Given the description of an element on the screen output the (x, y) to click on. 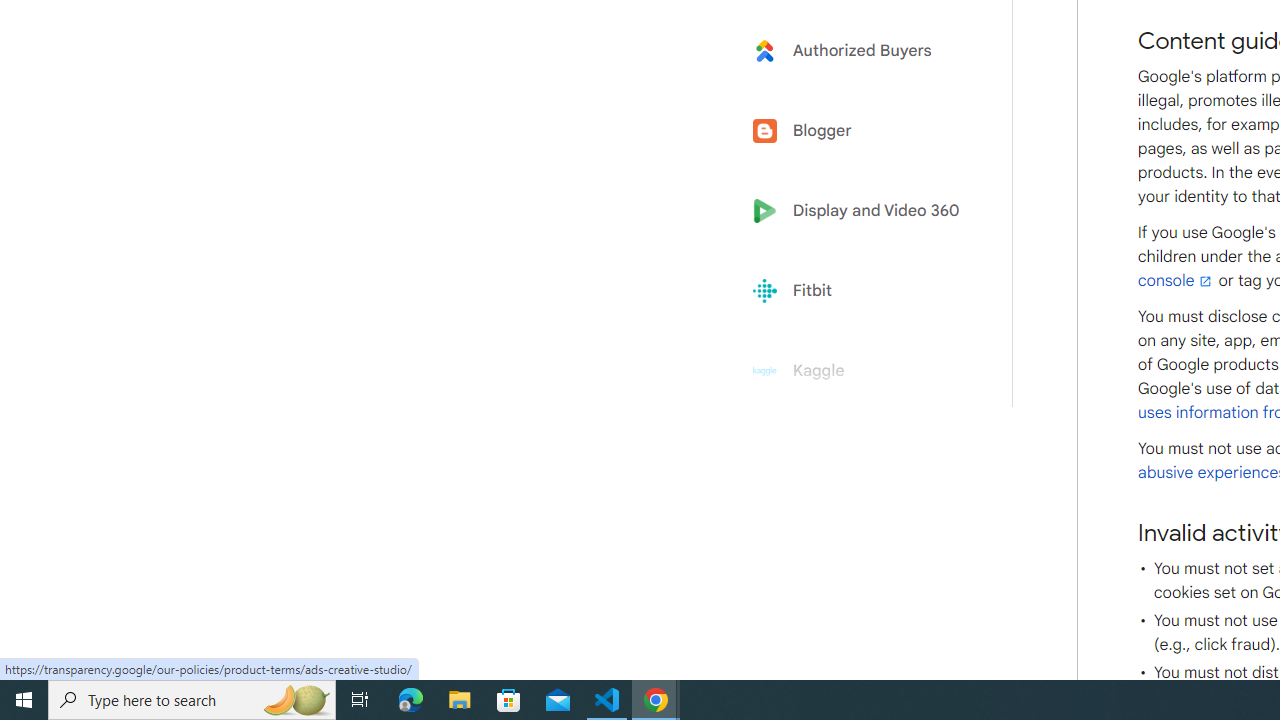
Display and Video 360 (862, 211)
Kaggle (862, 371)
Blogger (862, 130)
Blogger (862, 130)
Fitbit (862, 291)
Kaggle (862, 371)
Display and Video 360 (862, 211)
Learn more about Authorized Buyers (862, 50)
Fitbit (862, 291)
Learn more about Authorized Buyers (862, 50)
